Given the description of an element on the screen output the (x, y) to click on. 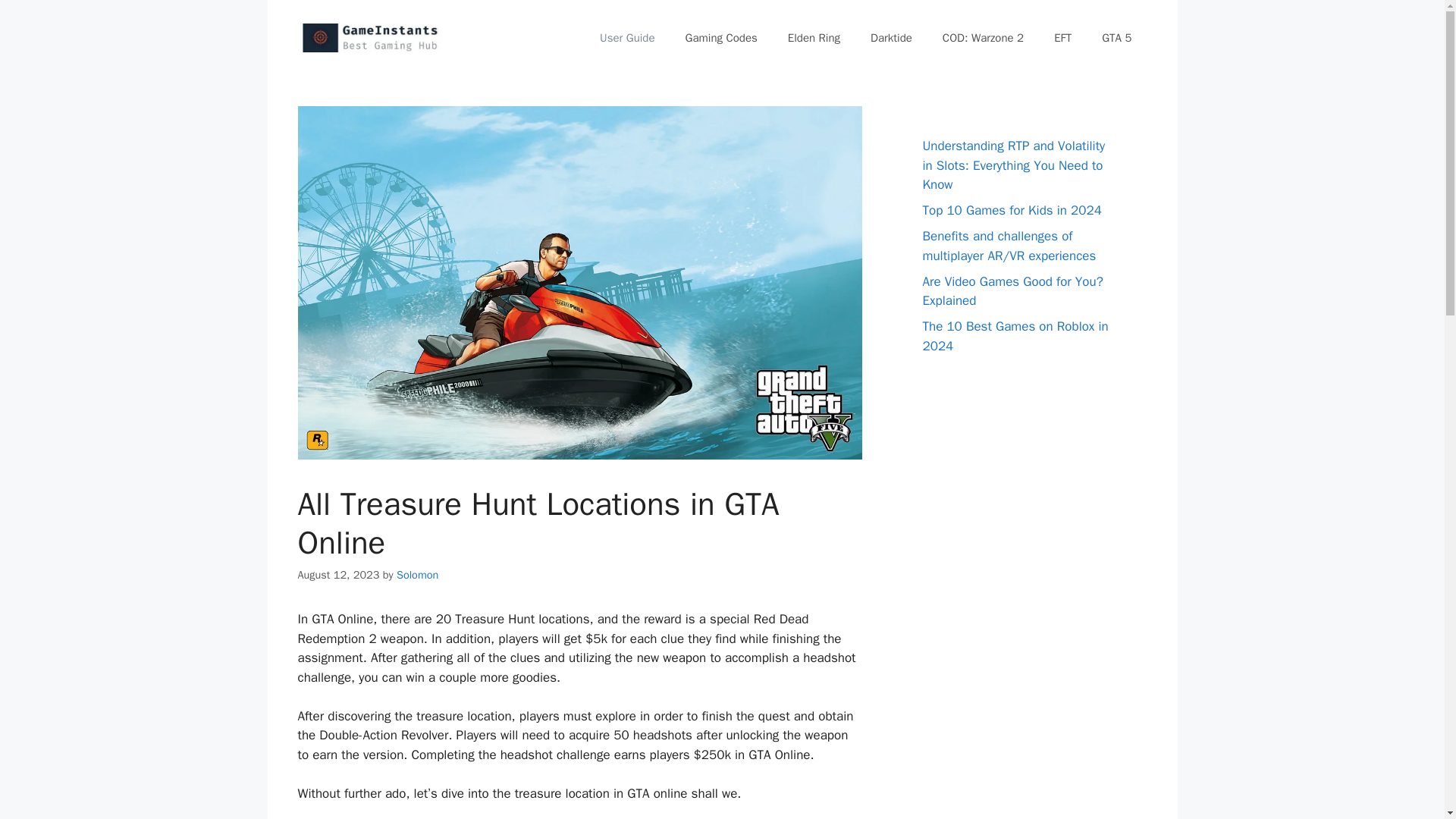
Top 10 Games for Kids in 2024 (1010, 210)
The 10 Best Games on Roblox in 2024 (1014, 335)
Solomon (417, 574)
View all posts by Solomon (417, 574)
GTA 5 (1116, 37)
COD: Warzone 2 (983, 37)
Gaming Codes (721, 37)
Are Video Games Good for You? Explained (1011, 290)
EFT (1062, 37)
